Given the description of an element on the screen output the (x, y) to click on. 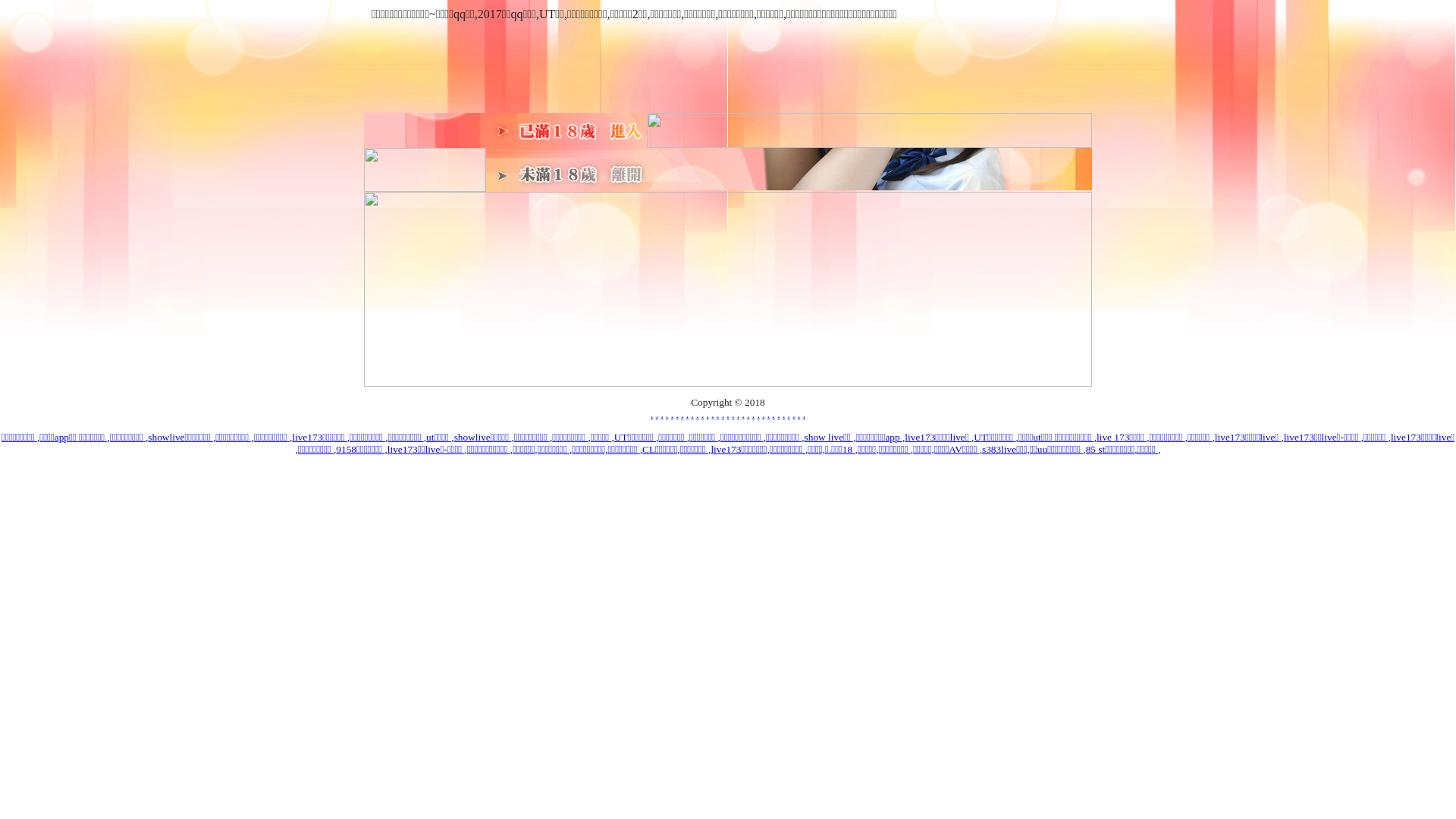
. Element type: text (656, 414)
. Element type: text (666, 414)
. Element type: text (763, 414)
. Element type: text (778, 414)
. Element type: text (661, 414)
. Element type: text (788, 414)
. Element type: text (798, 414)
. Element type: text (672, 414)
. Element type: text (651, 414)
. Element type: text (676, 414)
. Element type: text (742, 414)
. Element type: text (692, 414)
. Element type: text (804, 414)
. Element type: text (753, 414)
. Element type: text (722, 414)
. Element type: text (768, 414)
. Element type: text (738, 414)
. Element type: text (783, 414)
. Element type: text (732, 414)
. Element type: text (757, 414)
. Element type: text (717, 414)
. Element type: text (707, 414)
. Element type: text (747, 414)
. Element type: text (793, 414)
. Element type: text (773, 414)
. Element type: text (727, 414)
. Element type: text (697, 414)
. Element type: text (702, 414)
. Element type: text (687, 414)
. Element type: text (712, 414)
. Element type: text (681, 414)
